Given the description of an element on the screen output the (x, y) to click on. 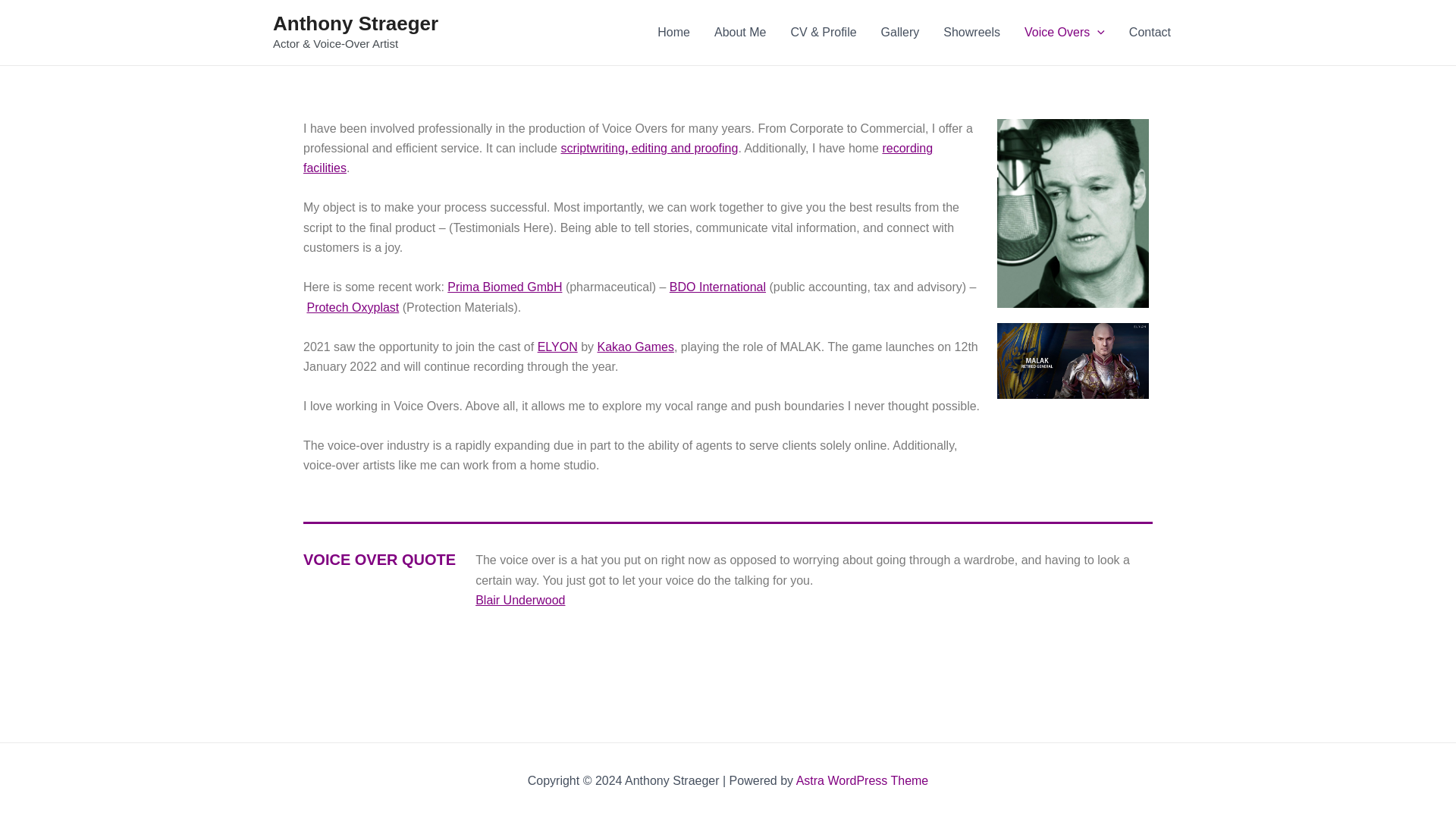
About Me (739, 32)
Protech Oxyplast (351, 307)
, (627, 147)
Prima Biomed GmbH (504, 286)
BDO International (717, 286)
Anthony Straeger (355, 23)
Voice Overs (1063, 32)
recording facilities (617, 157)
ELYON (557, 346)
Astra WordPress Theme (862, 780)
Showreels (971, 32)
Kakao Games (635, 346)
Home (673, 32)
editing and proofing (684, 147)
Blair Underwood (520, 599)
